Given the description of an element on the screen output the (x, y) to click on. 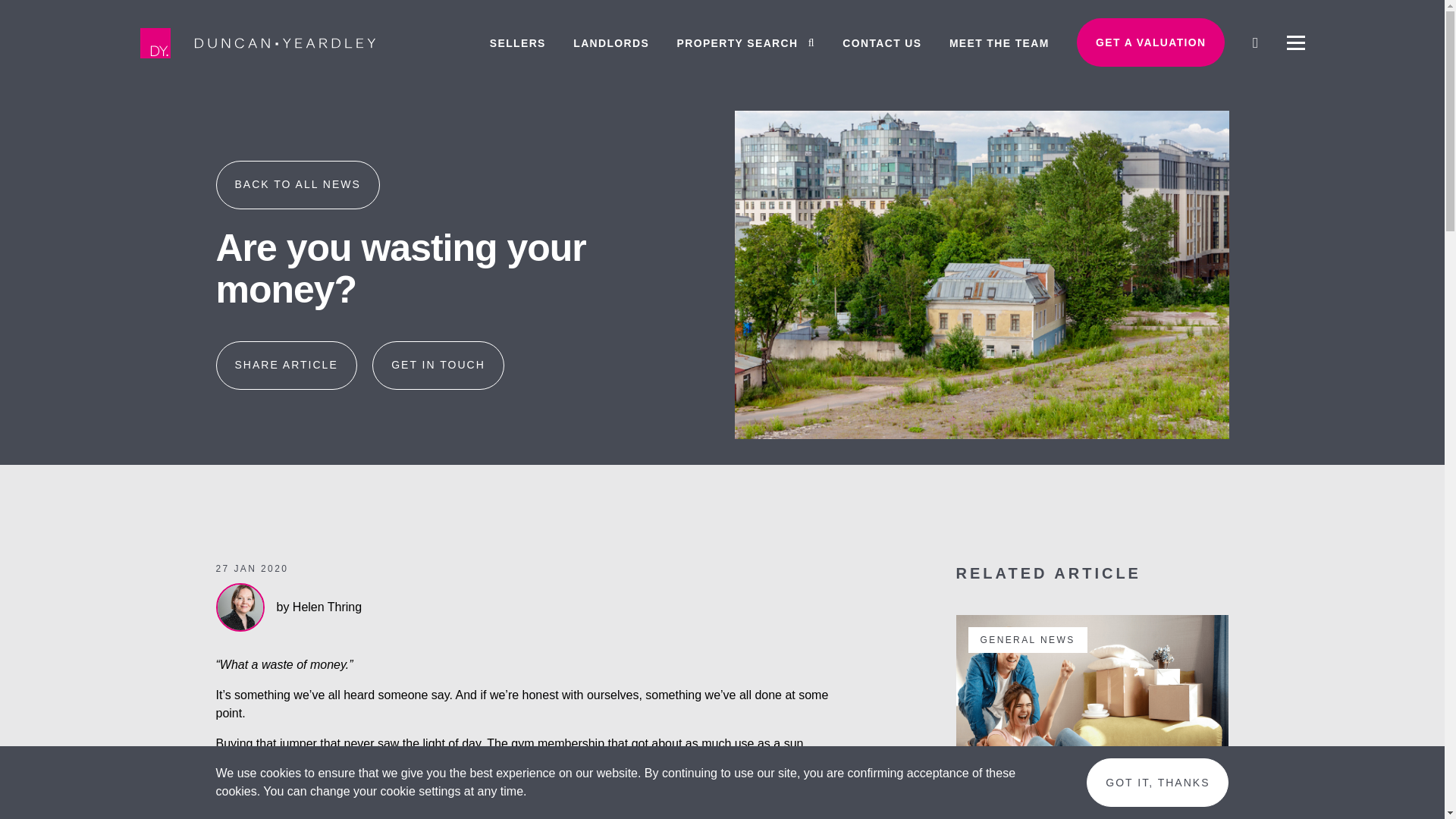
LANDLORDS (611, 35)
GET A VALUATION (1150, 42)
MEET THE TEAM (999, 35)
PROPERTY SEARCH (746, 35)
BACK TO ALL NEWS (296, 184)
SELLERS (517, 35)
CONTACT US (882, 35)
